Given the description of an element on the screen output the (x, y) to click on. 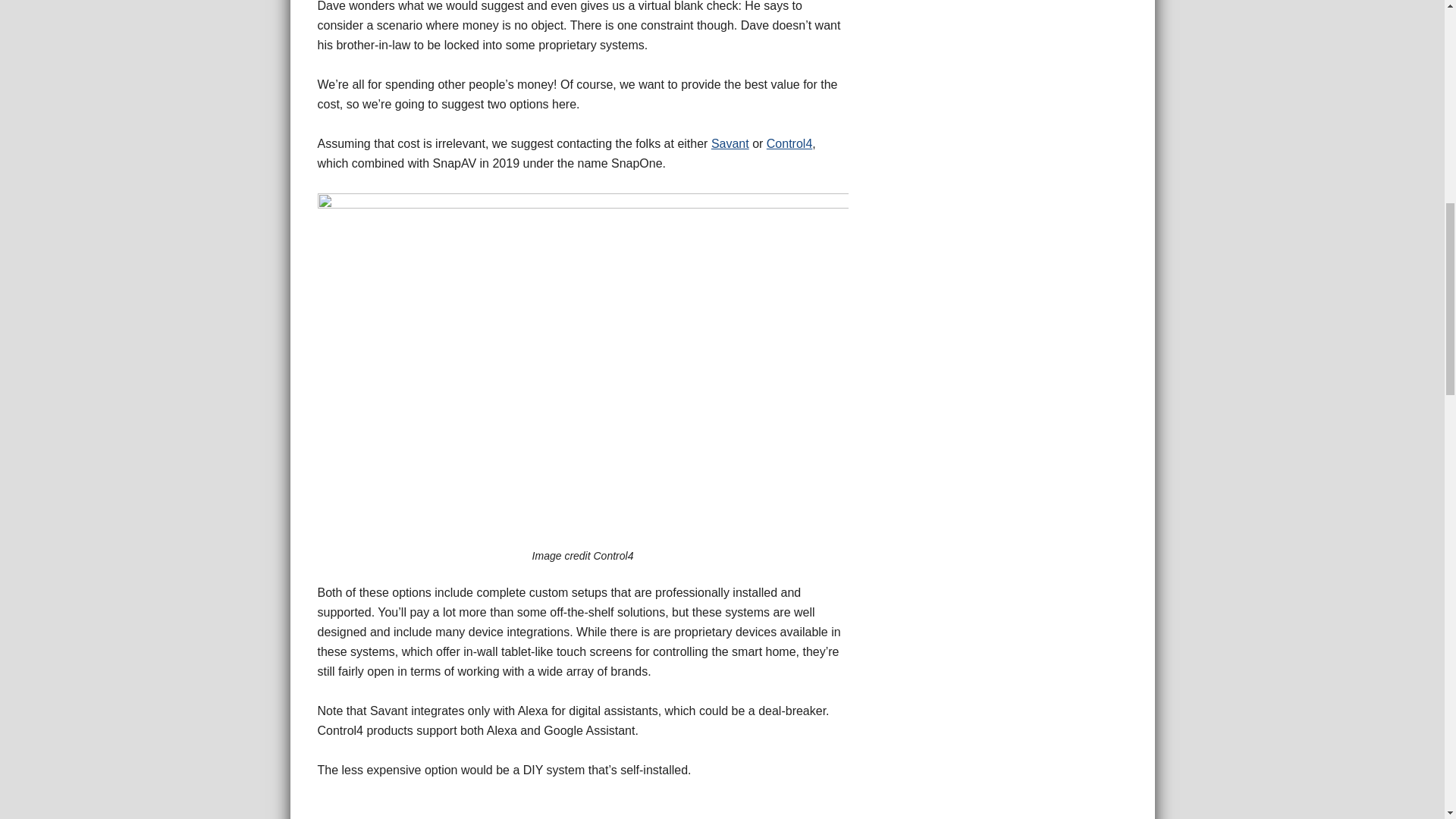
Control4 (789, 143)
Savant (730, 143)
